Given the description of an element on the screen output the (x, y) to click on. 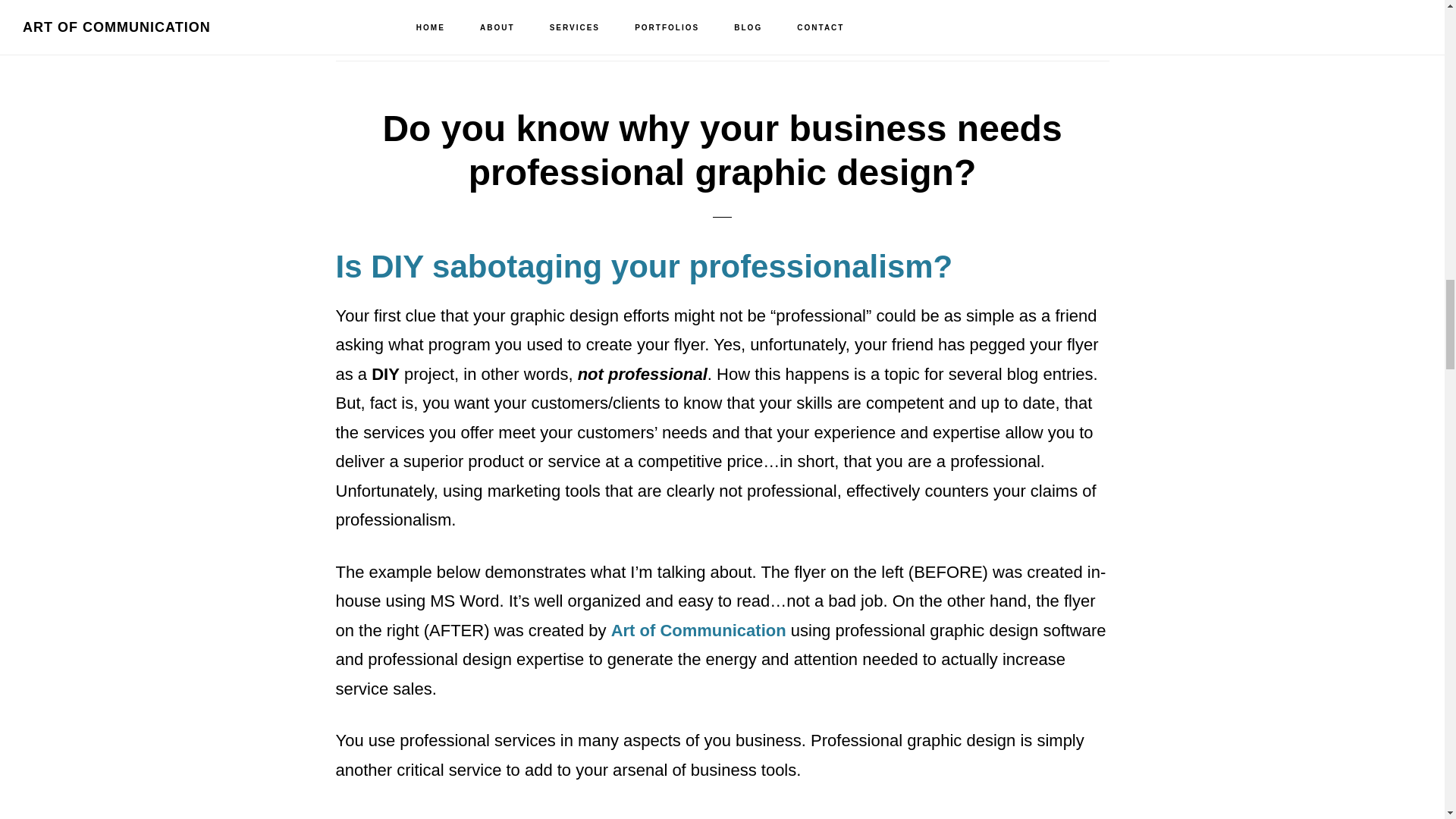
Graphics Tips (468, 4)
